Given the description of an element on the screen output the (x, y) to click on. 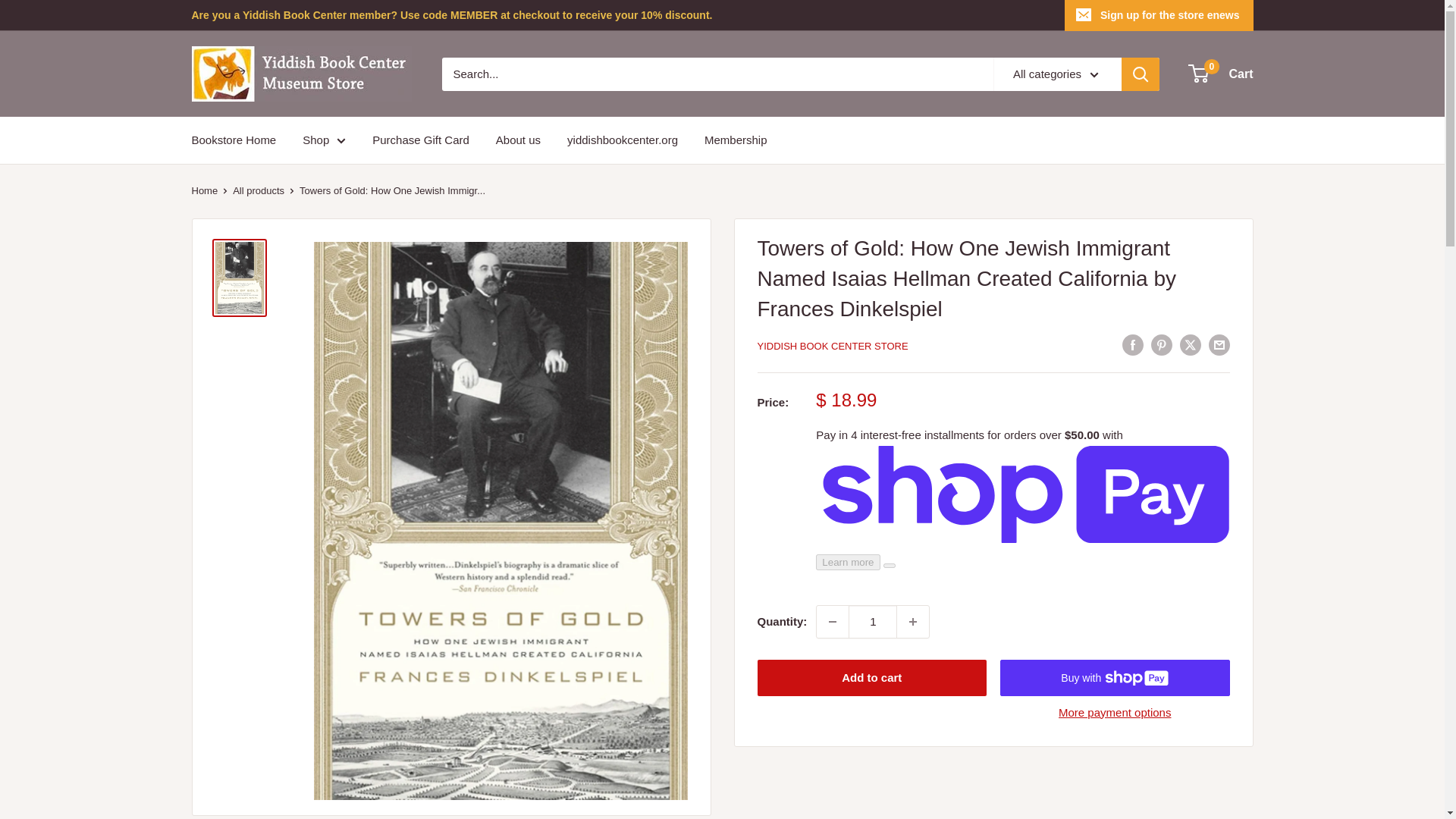
Decrease quantity by 1 (832, 622)
1 (872, 622)
Increase quantity by 1 (912, 622)
Sign up for the store enews (1158, 15)
